Given the description of an element on the screen output the (x, y) to click on. 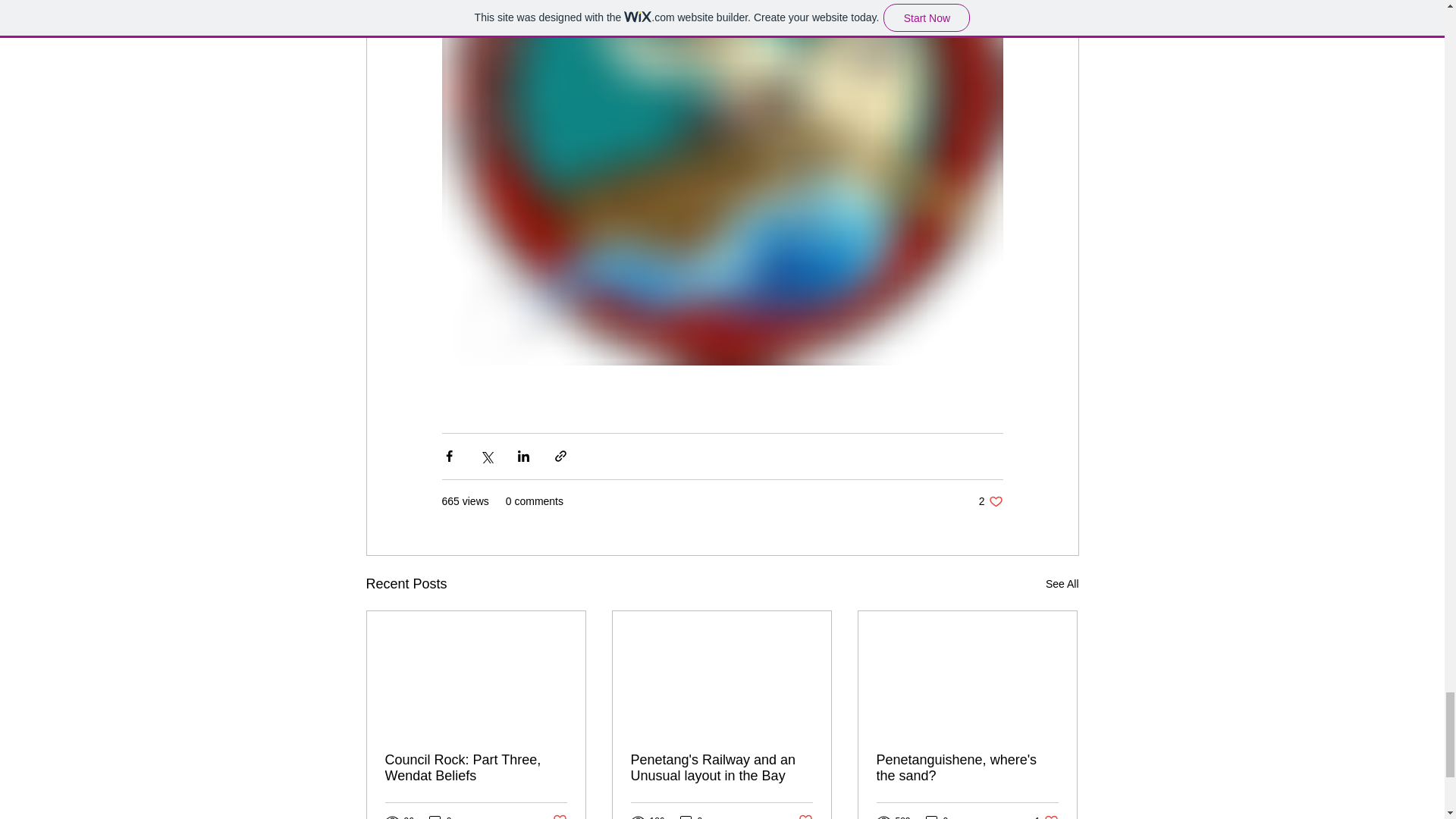
Penetanguishene, where's the sand? (967, 767)
Post not marked as liked (558, 816)
0 (937, 816)
Post not marked as liked (804, 816)
Penetang's Railway and an Unusual layout in the Bay (721, 767)
See All (990, 501)
Council Rock: Part Three, Wendat Beliefs (1061, 584)
0 (1046, 816)
